Given the description of an element on the screen output the (x, y) to click on. 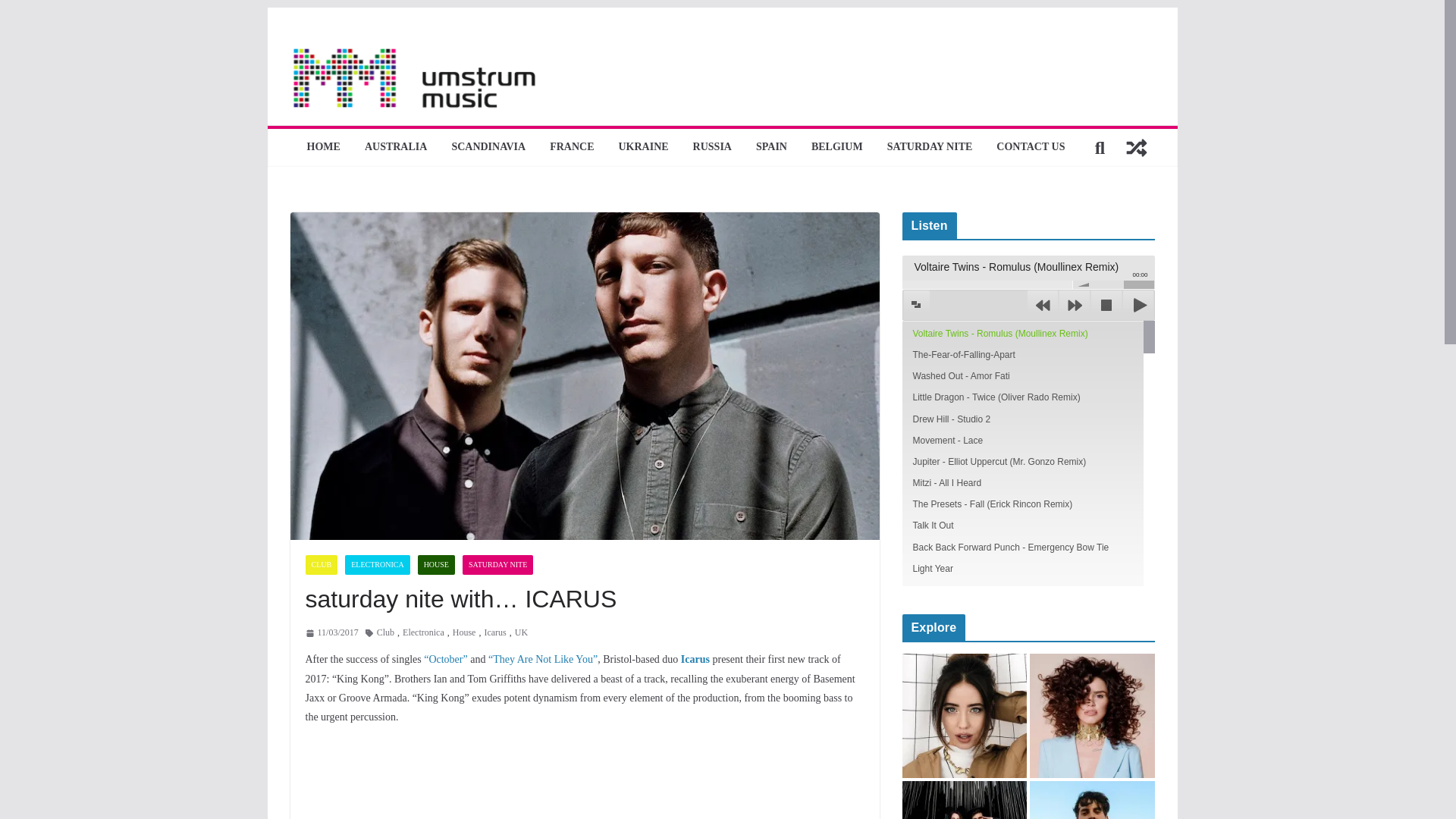
BELGIUM (836, 147)
Icarus (695, 659)
Electronica (423, 632)
HOUSE (435, 564)
7:36 pm (331, 632)
SPAIN (771, 147)
View a random post (1136, 147)
Icarus (494, 632)
FRANCE (572, 147)
ELECTRONICA (377, 564)
HOME (323, 147)
RUSSIA (712, 147)
SCANDINAVIA (488, 147)
Club (385, 632)
